Given the description of an element on the screen output the (x, y) to click on. 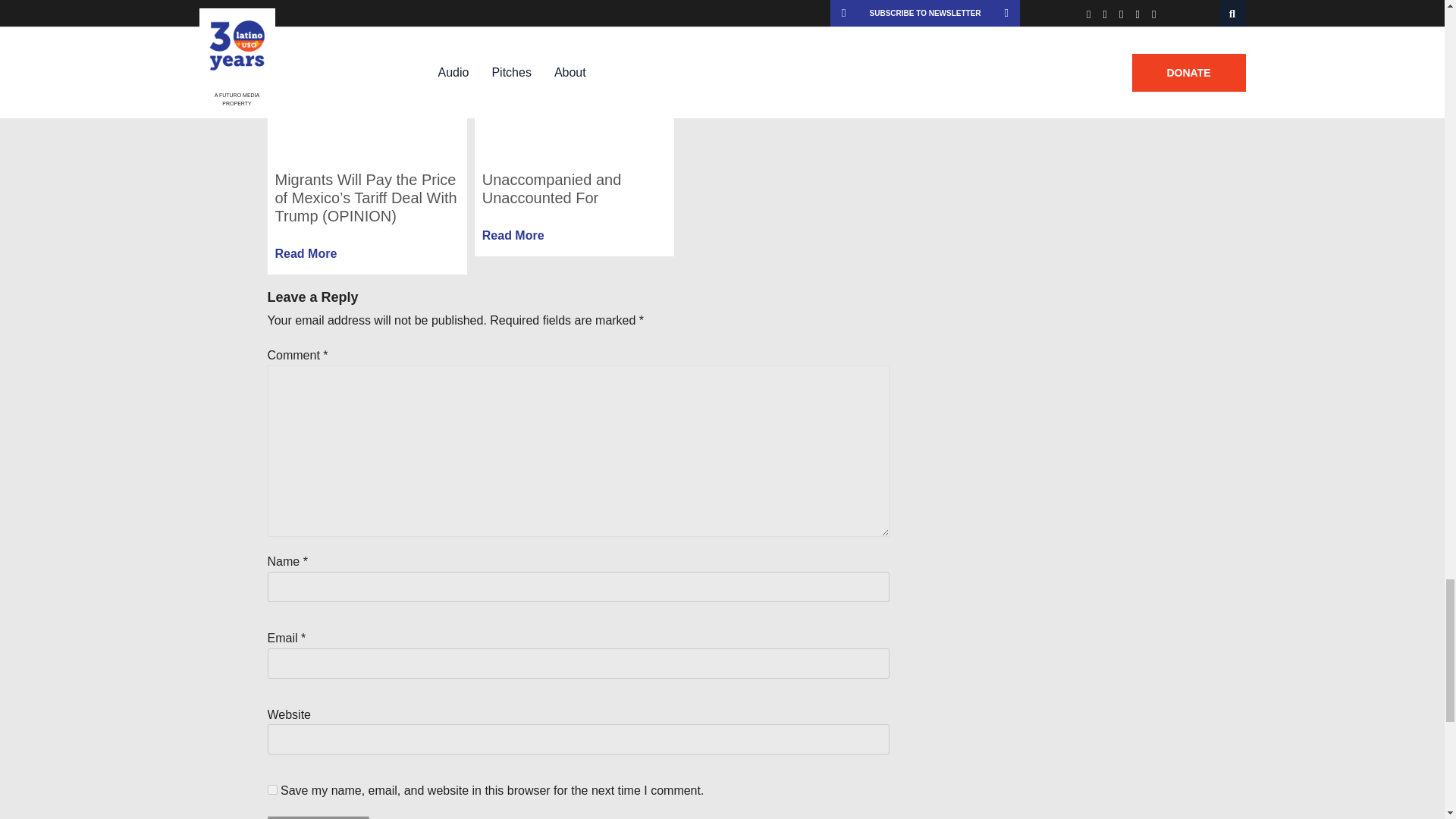
Post Comment (317, 817)
yes (271, 789)
